Given the description of an element on the screen output the (x, y) to click on. 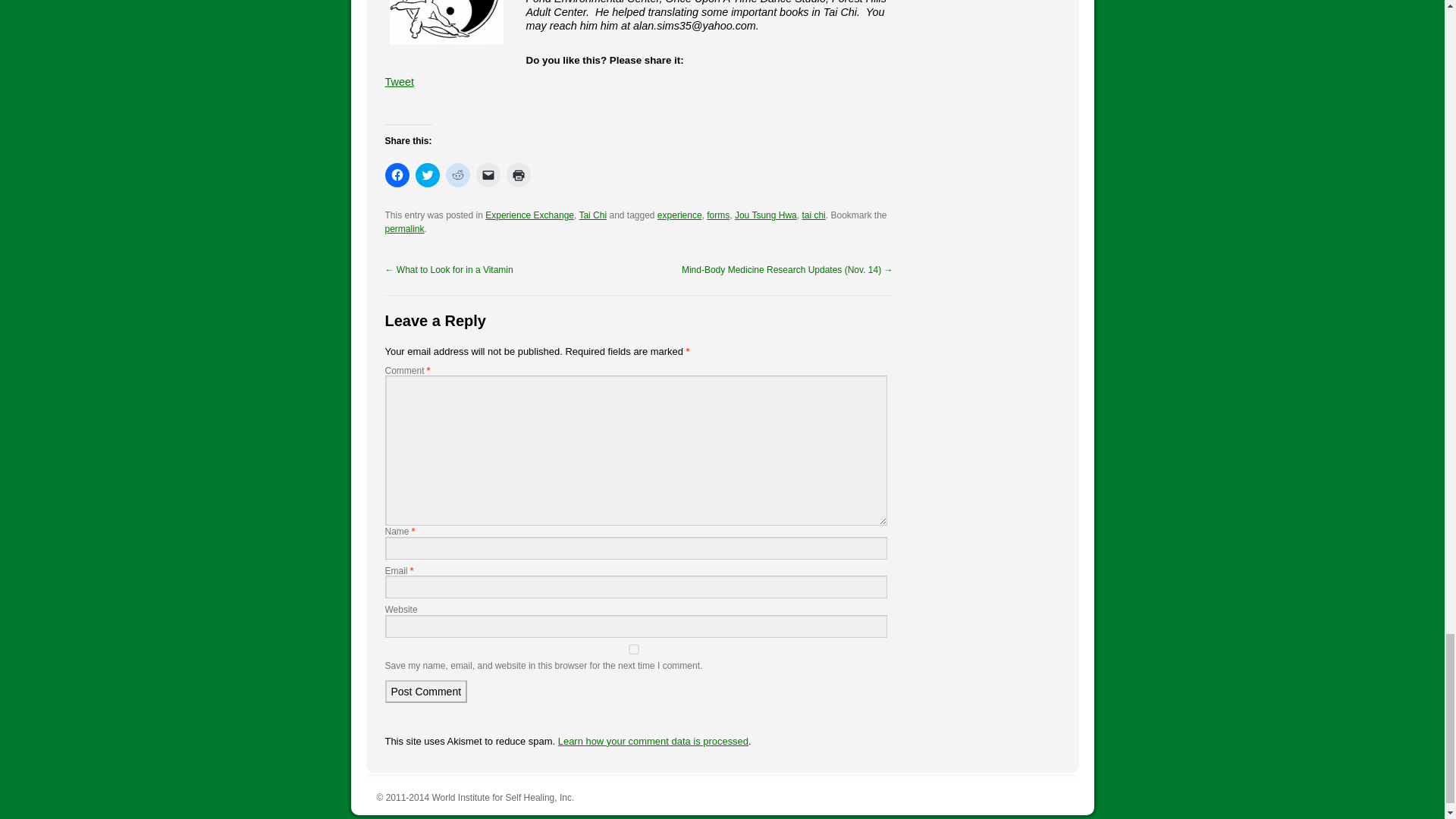
Email a Friend (422, 102)
yes (634, 649)
Share on Technorati (502, 102)
Click to share on Facebook (397, 174)
Share on Twitter (406, 102)
Click to share on Twitter (426, 174)
Share on Google (454, 102)
Share on Myspace (470, 102)
Share on StumbleUpon (486, 102)
Post Comment (426, 691)
Click to share on Reddit (457, 174)
Share on Facebook (391, 102)
RSS Feed (518, 102)
Share on Blogger (438, 102)
